Given the description of an element on the screen output the (x, y) to click on. 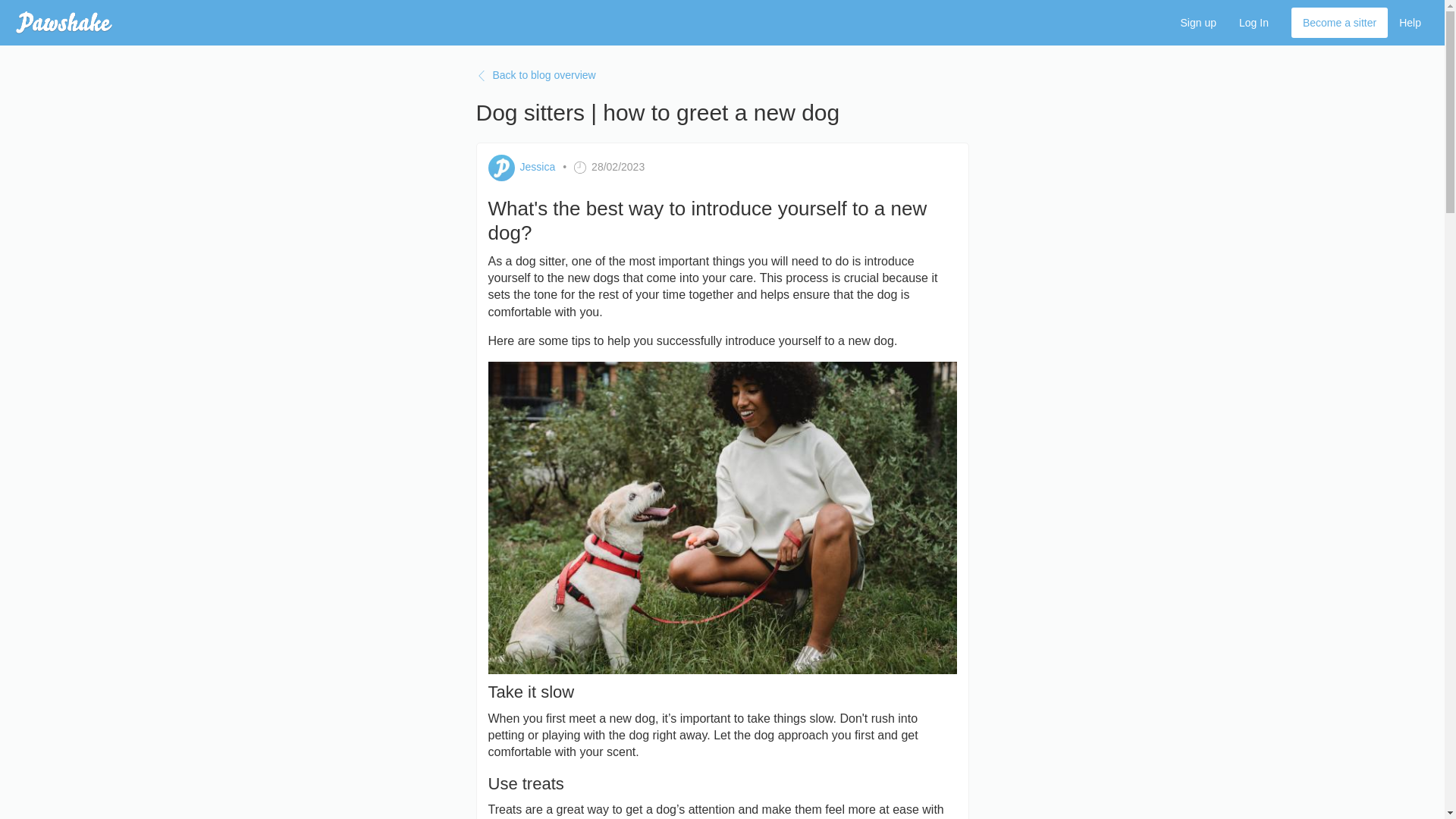
Back to blog overview (722, 75)
Help (1409, 22)
Log In (1253, 22)
Jessica (537, 167)
Become a sitter (1339, 22)
Sign up (1198, 22)
Home (64, 22)
